Given the description of an element on the screen output the (x, y) to click on. 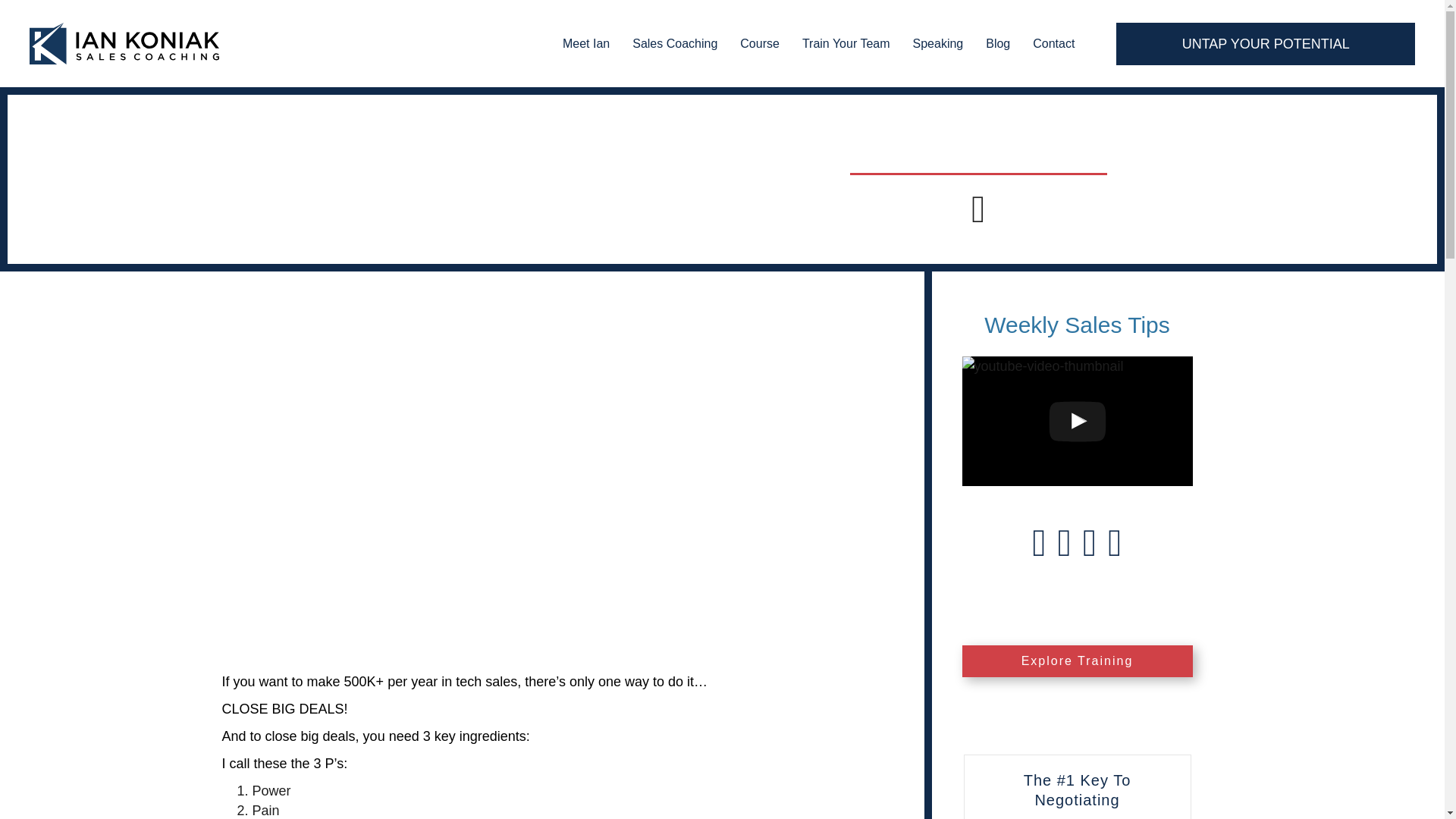
Explore Training (1076, 661)
Blog (997, 43)
Train Your Team (846, 43)
Sales Coaching (674, 43)
Speaking (938, 43)
IK Logo (124, 43)
Meet Ian (585, 43)
Course (759, 43)
UNTAP YOUR POTENTIAL (1265, 43)
Contact (1053, 43)
